Given the description of an element on the screen output the (x, y) to click on. 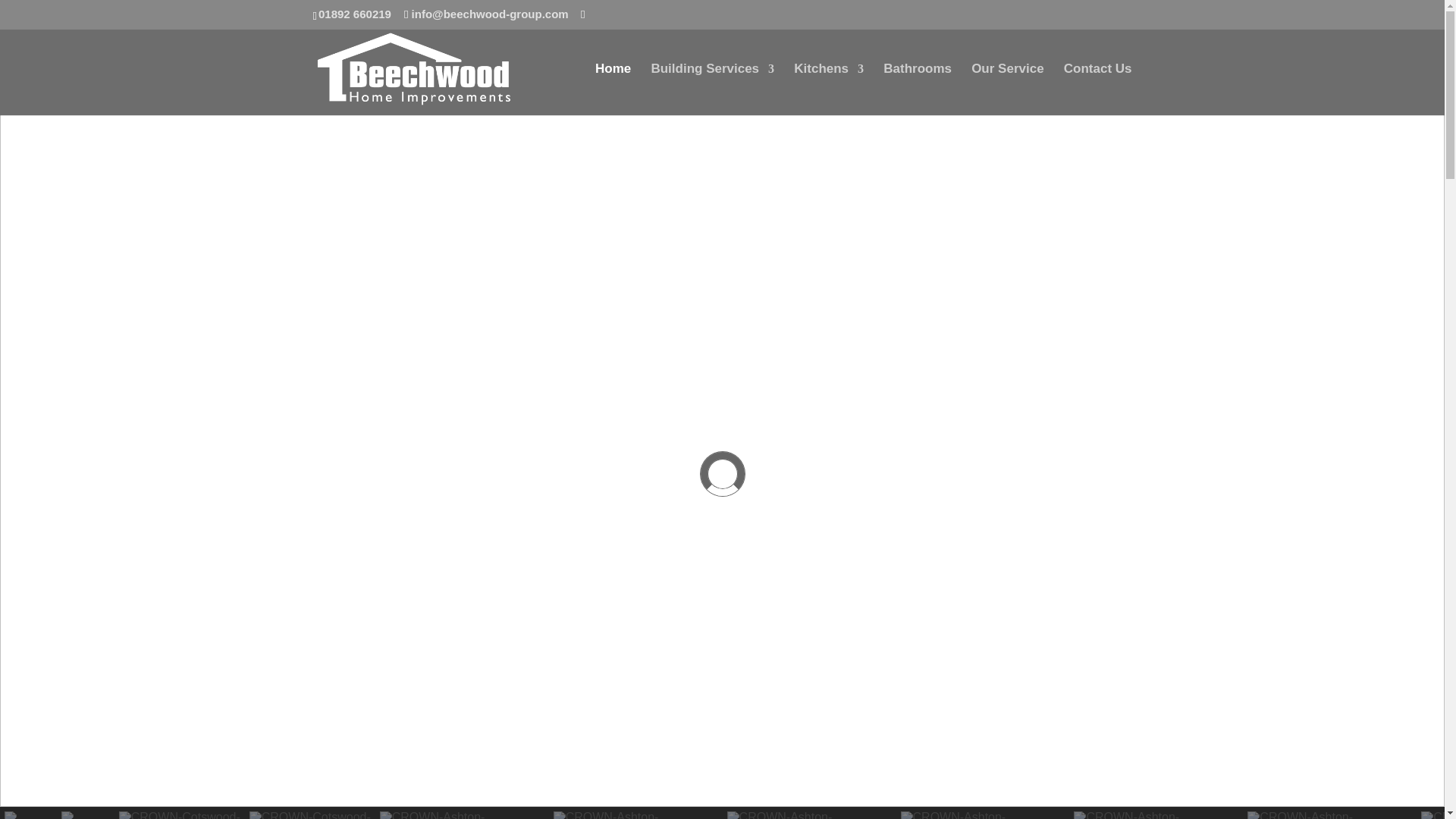
Our Service (1007, 89)
Contact Us (1098, 89)
Kitchens (828, 89)
Bathrooms (917, 89)
Building Services (712, 89)
